Given the description of an element on the screen output the (x, y) to click on. 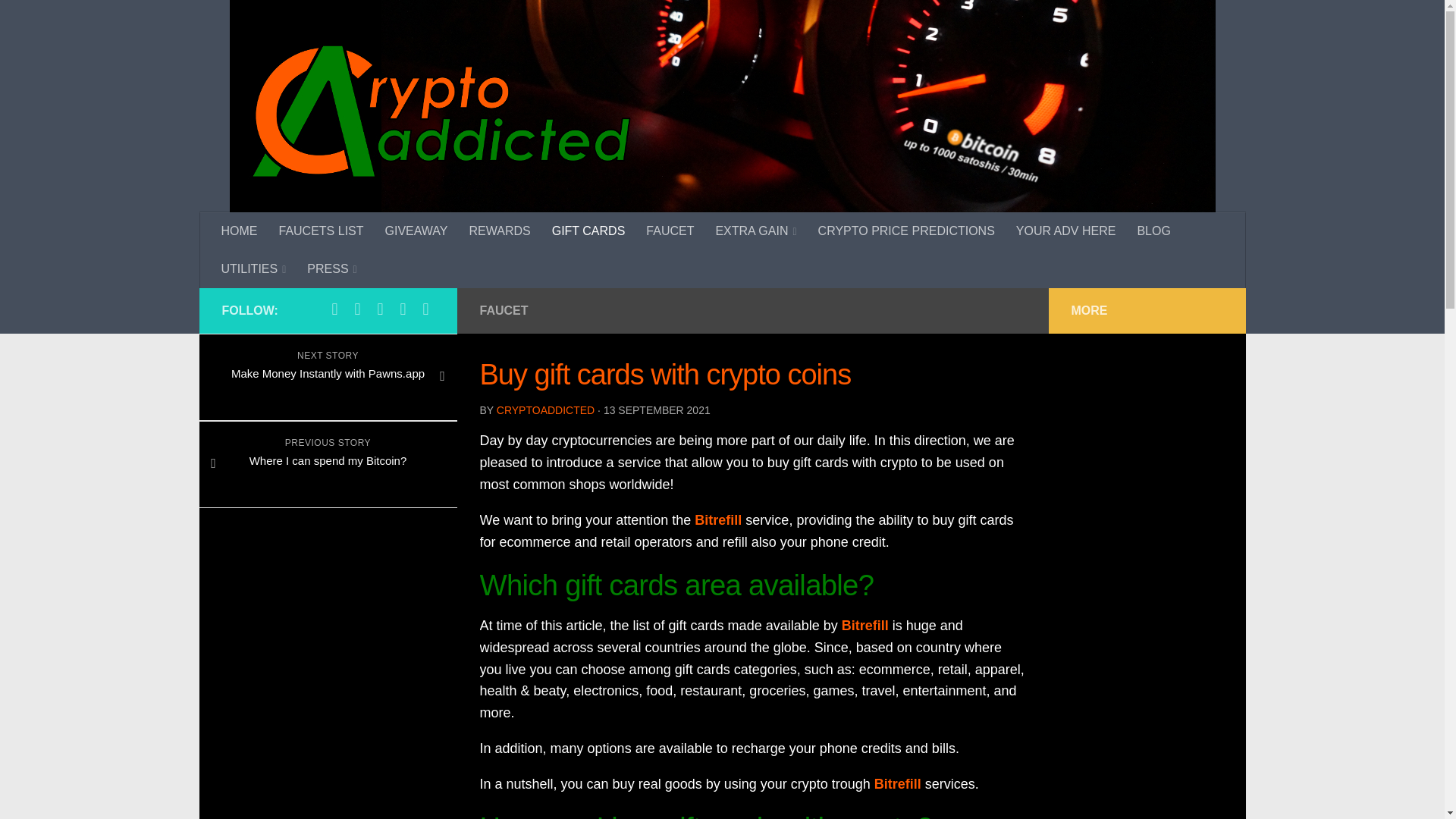
GIVEAWAY (416, 231)
Follow us on Twitter (357, 309)
EXTRA GAIN (755, 231)
Send an email to our support team (424, 309)
FAUCET (669, 231)
Follow us on Google-plus (402, 309)
Follow us on Youtube (379, 309)
Follow us on Facebook-official (334, 309)
REWARDS (499, 231)
HOME (239, 231)
Posts by CryptoAddicted (545, 410)
GIFT CARDS (588, 231)
FAUCETS LIST (320, 231)
